Given the description of an element on the screen output the (x, y) to click on. 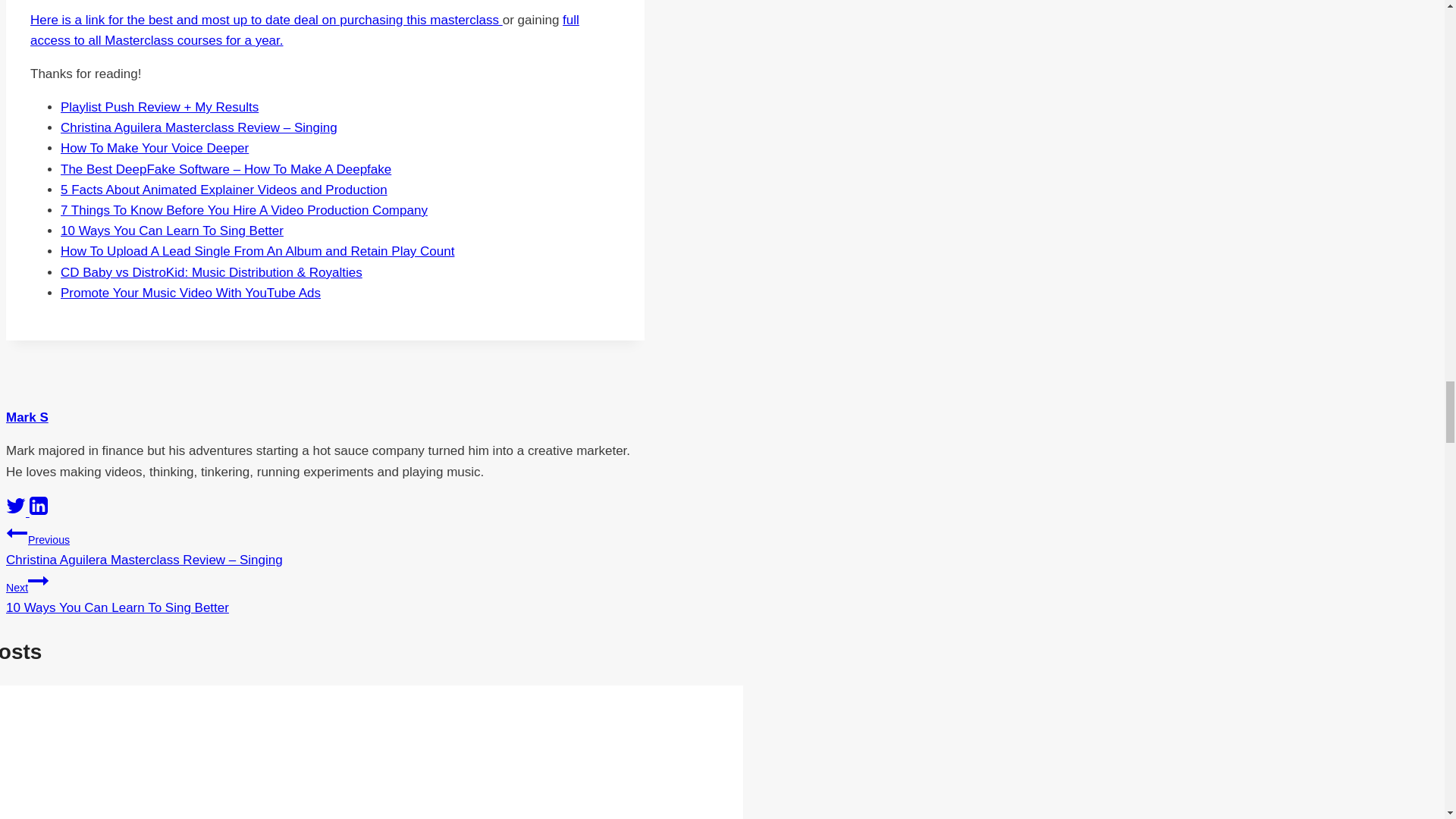
Follow Mark S on Linkedin (38, 512)
Posts by Mark S (26, 417)
Continue (37, 580)
Twitter (15, 505)
Previous (16, 532)
Linkedin (38, 505)
Follow Mark S on Twitter (17, 512)
